Given the description of an element on the screen output the (x, y) to click on. 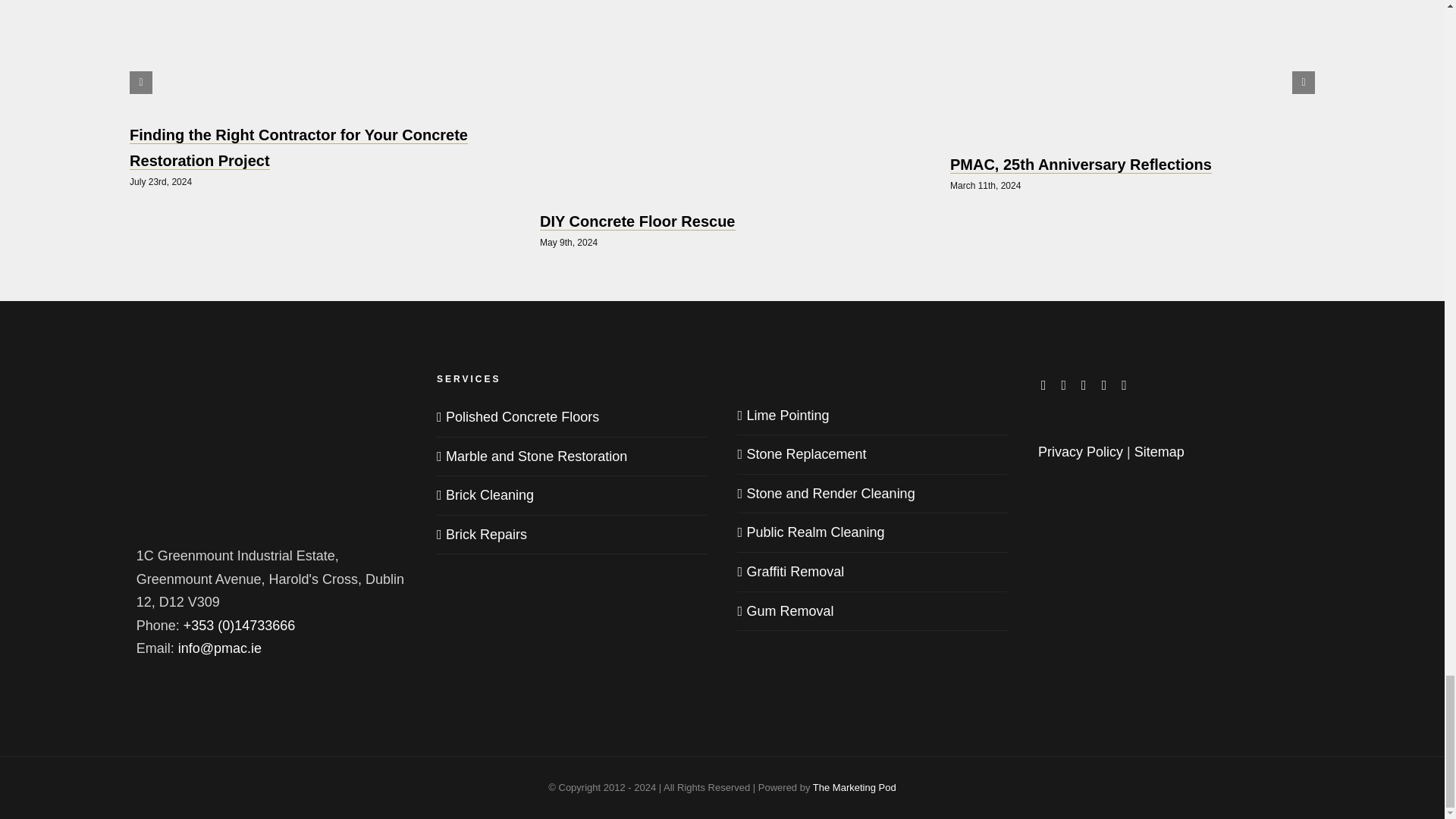
PMAC, 25th Anniversary Reflections (1080, 164)
DIY Concrete Floor Rescue (637, 221)
